Given the description of an element on the screen output the (x, y) to click on. 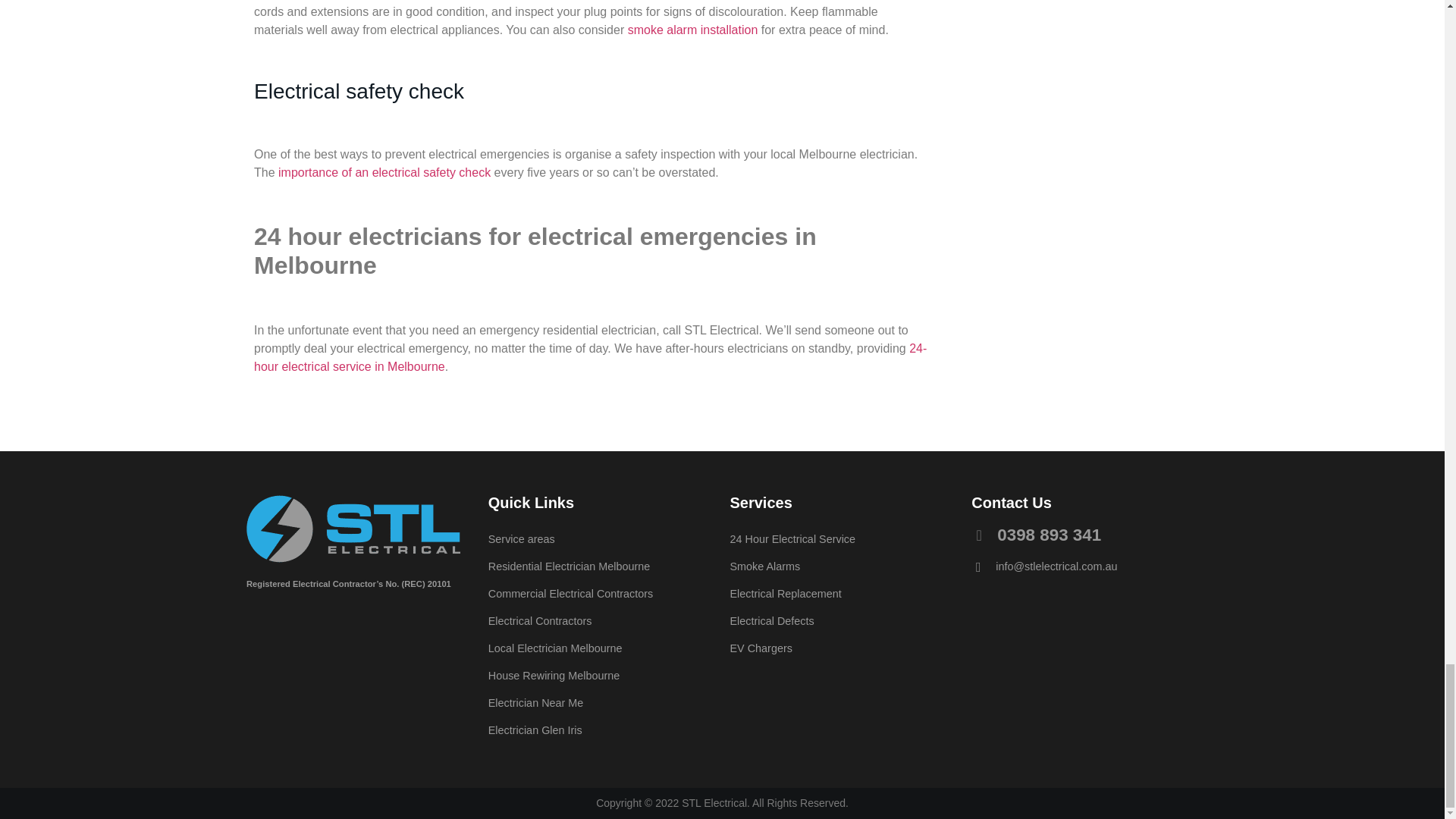
importance of an electrical safety check (384, 172)
Residential Electrician Melbourne (600, 565)
24-hour electrical service in Melbourne (589, 357)
smoke alarm installation (692, 29)
Service areas (600, 538)
